Given the description of an element on the screen output the (x, y) to click on. 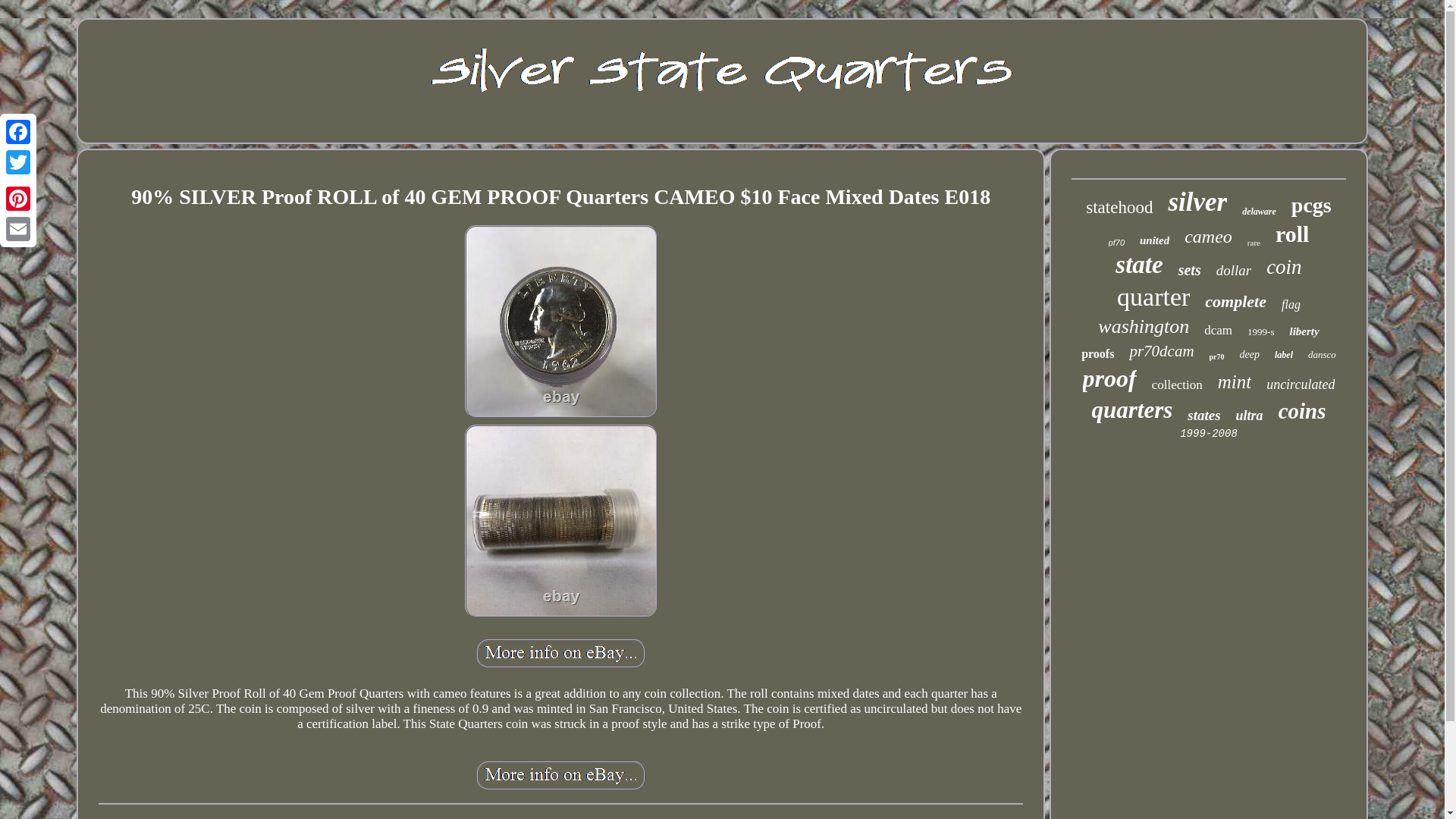
Facebook (17, 132)
pf70 (1116, 242)
flag (1290, 305)
1999-s (1260, 331)
deep (1249, 354)
coin (1283, 267)
sets (1189, 270)
washington (1143, 326)
quarter (1152, 297)
Pinterest (17, 198)
silver (1197, 202)
complete (1235, 301)
liberty (1303, 331)
statehood (1119, 207)
dcam (1217, 330)
